Given the description of an element on the screen output the (x, y) to click on. 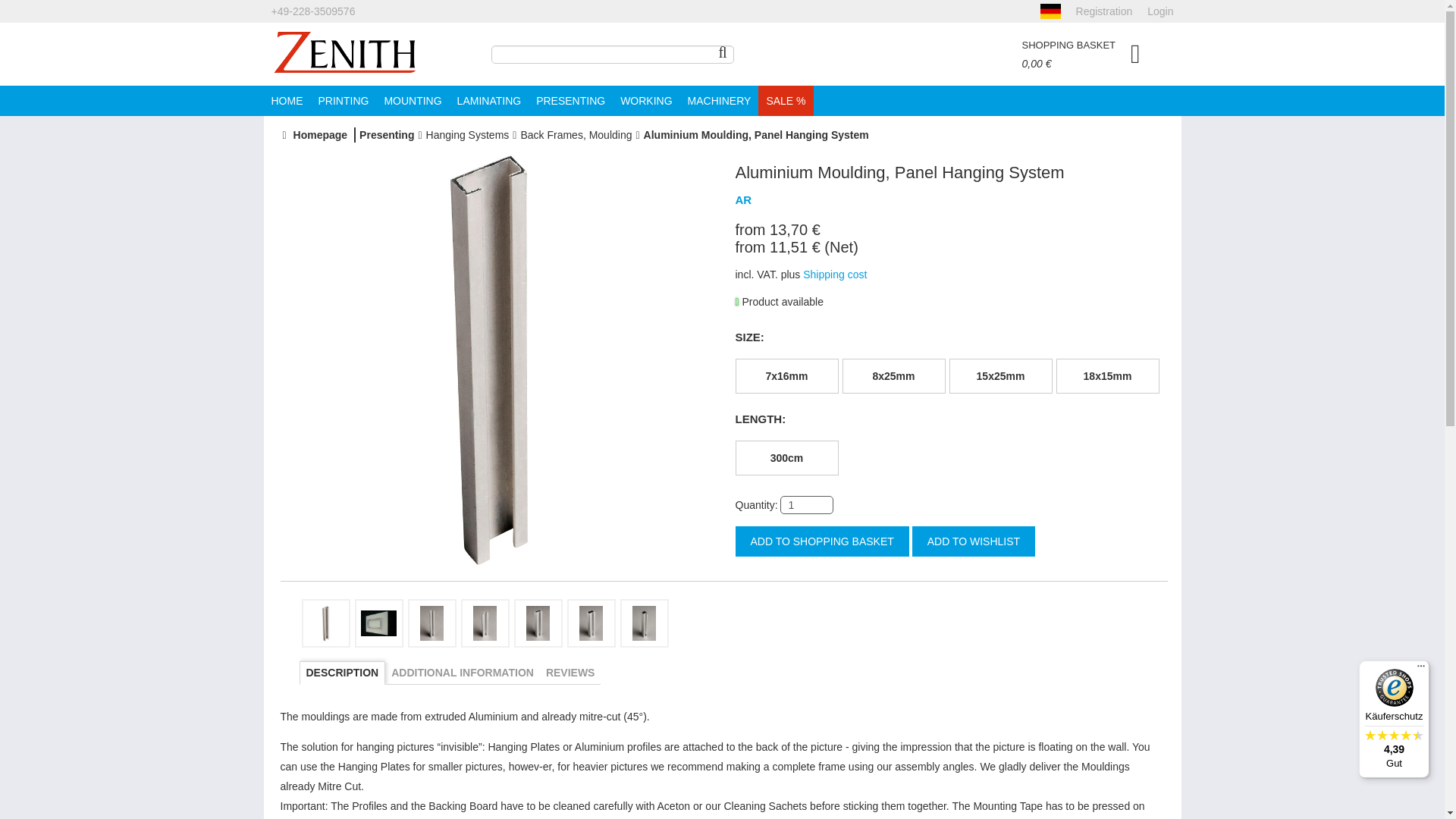
Registration (1104, 11)
Laminating (489, 100)
Registration (1104, 11)
PRINTING (344, 100)
WORKING (645, 100)
PRESENTING (570, 100)
LAMINATING (489, 100)
Home (344, 53)
Login (1160, 11)
Login (1160, 11)
Add to shopping basket (821, 541)
MOUNTING (411, 100)
Deutsch (1051, 11)
Printing (344, 100)
Warenkorb (1091, 53)
